Given the description of an element on the screen output the (x, y) to click on. 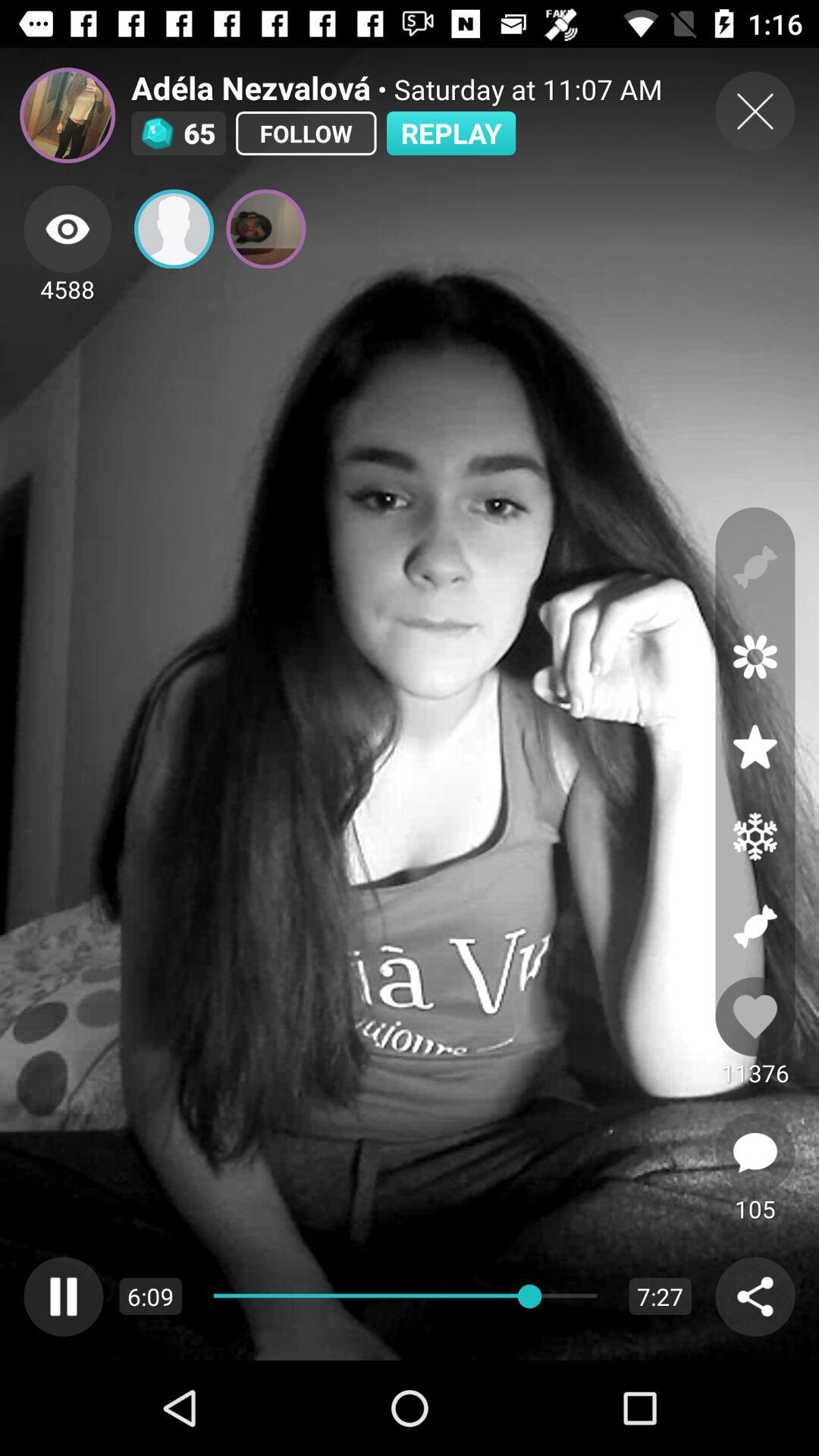
type the text (755, 1152)
